Given the description of an element on the screen output the (x, y) to click on. 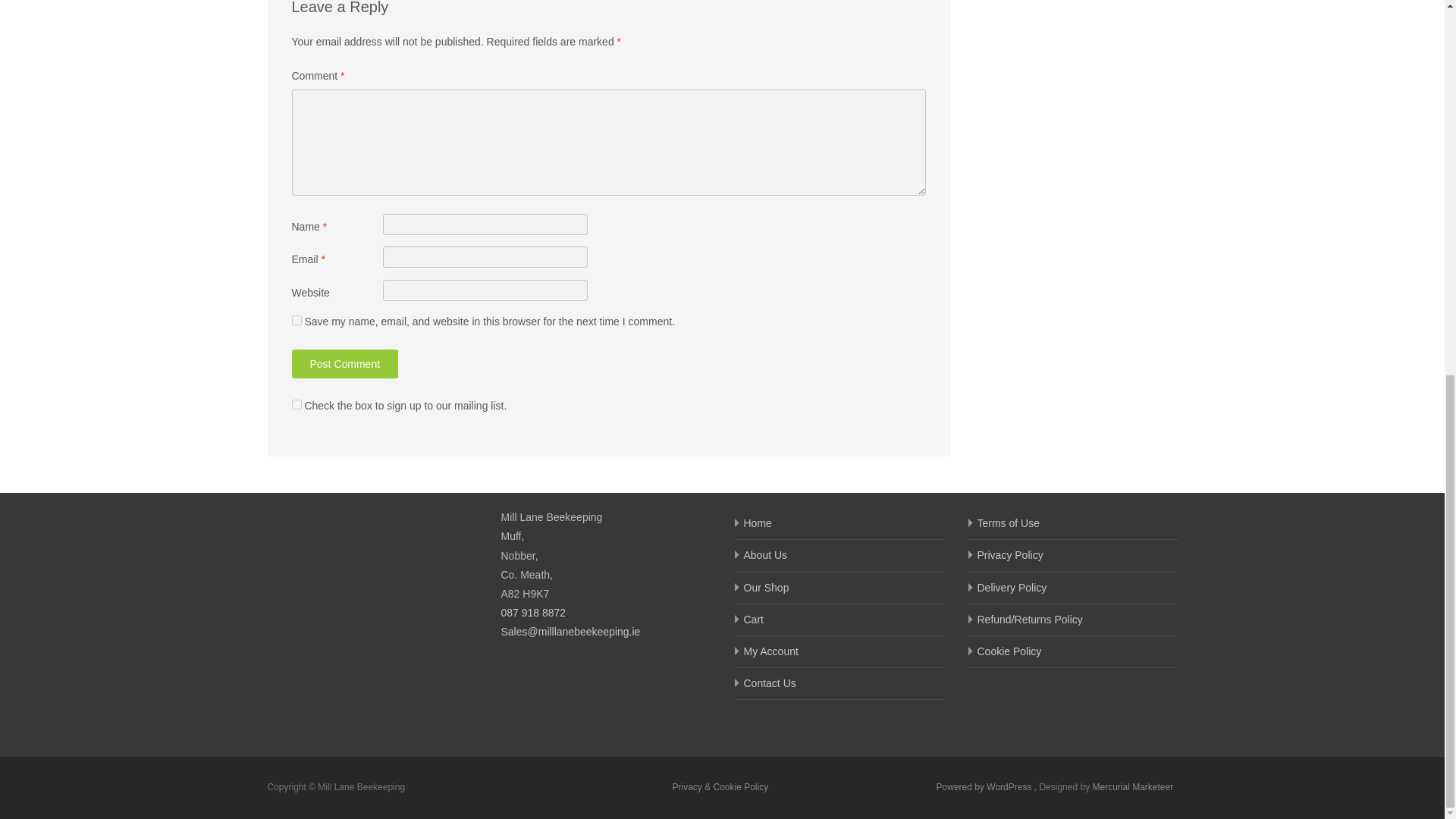
Post Comment (344, 363)
Semantic Personal Publishing Platform (984, 787)
yes (296, 320)
1 (296, 404)
Post Comment (344, 363)
